Given the description of an element on the screen output the (x, y) to click on. 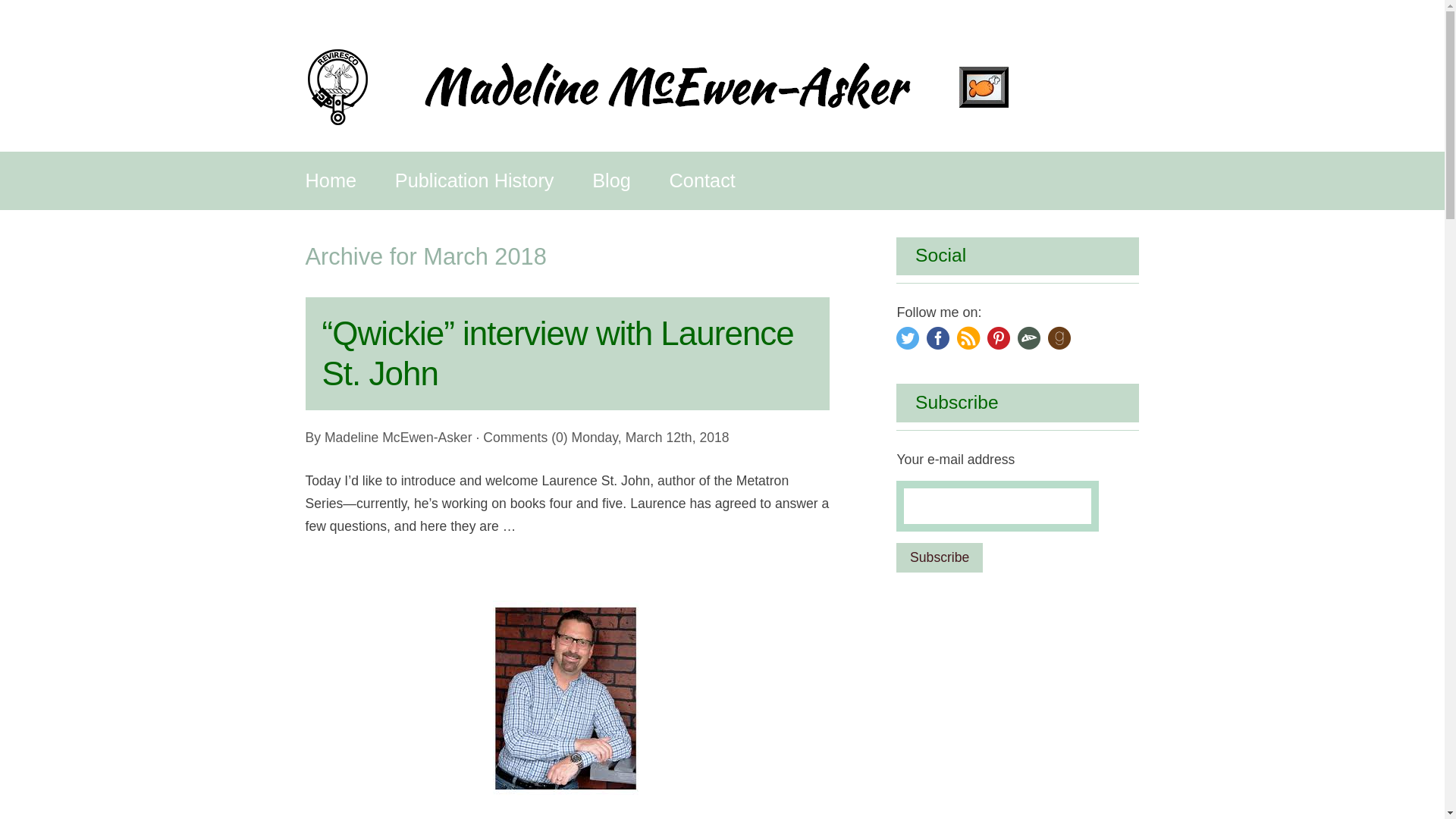
Publication History (474, 180)
Madeline McEwen-Asker (397, 437)
Subscribe (938, 557)
Contact (702, 180)
Blog (611, 180)
Home (330, 180)
Madeline McEwen-Asker (397, 437)
Subscribe (938, 557)
